Given the description of an element on the screen output the (x, y) to click on. 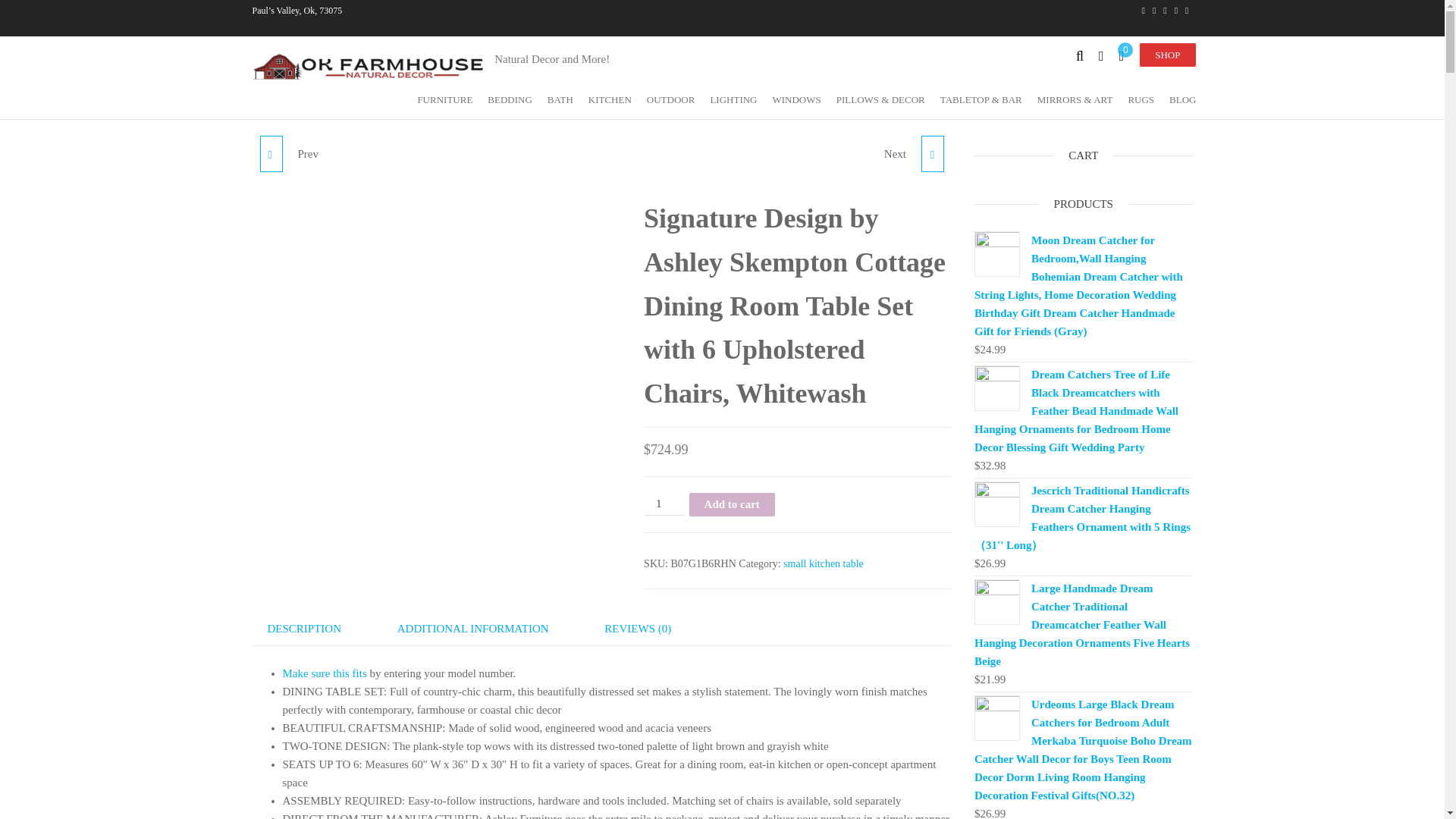
BATH (560, 99)
small kitchen table (823, 563)
Add to cart (732, 504)
1 (663, 503)
RUGS (1140, 99)
DESCRIPTION (303, 628)
Bedding (510, 99)
BEDDING (510, 99)
FURNITURE (444, 99)
LIGHTING (732, 99)
